Given the description of an element on the screen output the (x, y) to click on. 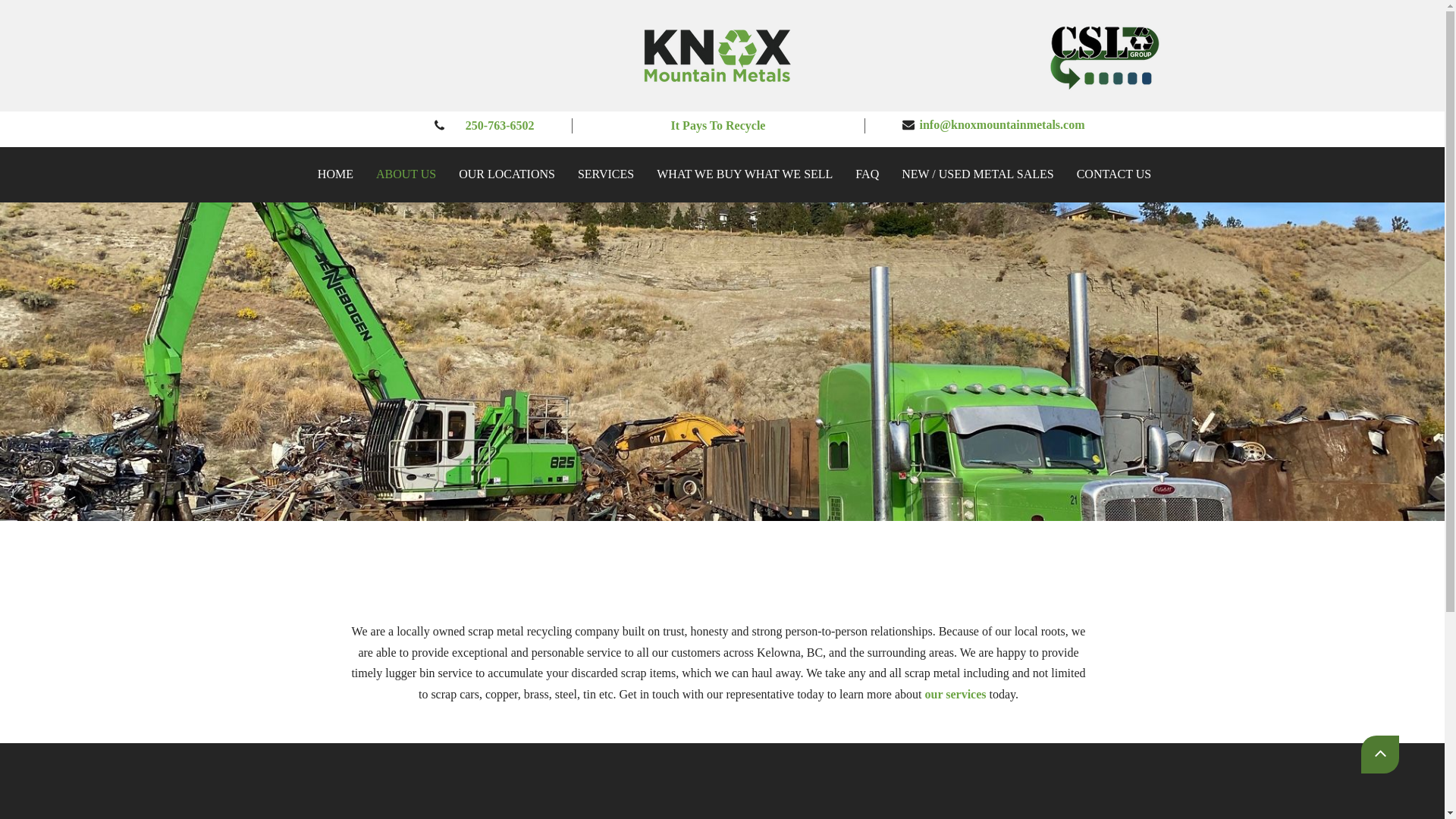
SERVICES (605, 174)
ABOUT US (405, 174)
FAQ (867, 174)
WHAT WE BUY WHAT WE SELL (744, 174)
our services (954, 694)
HOME (335, 174)
OUR LOCATIONS (506, 174)
250-763-6502 (498, 124)
CONTACT US (1114, 174)
